Given the description of an element on the screen output the (x, y) to click on. 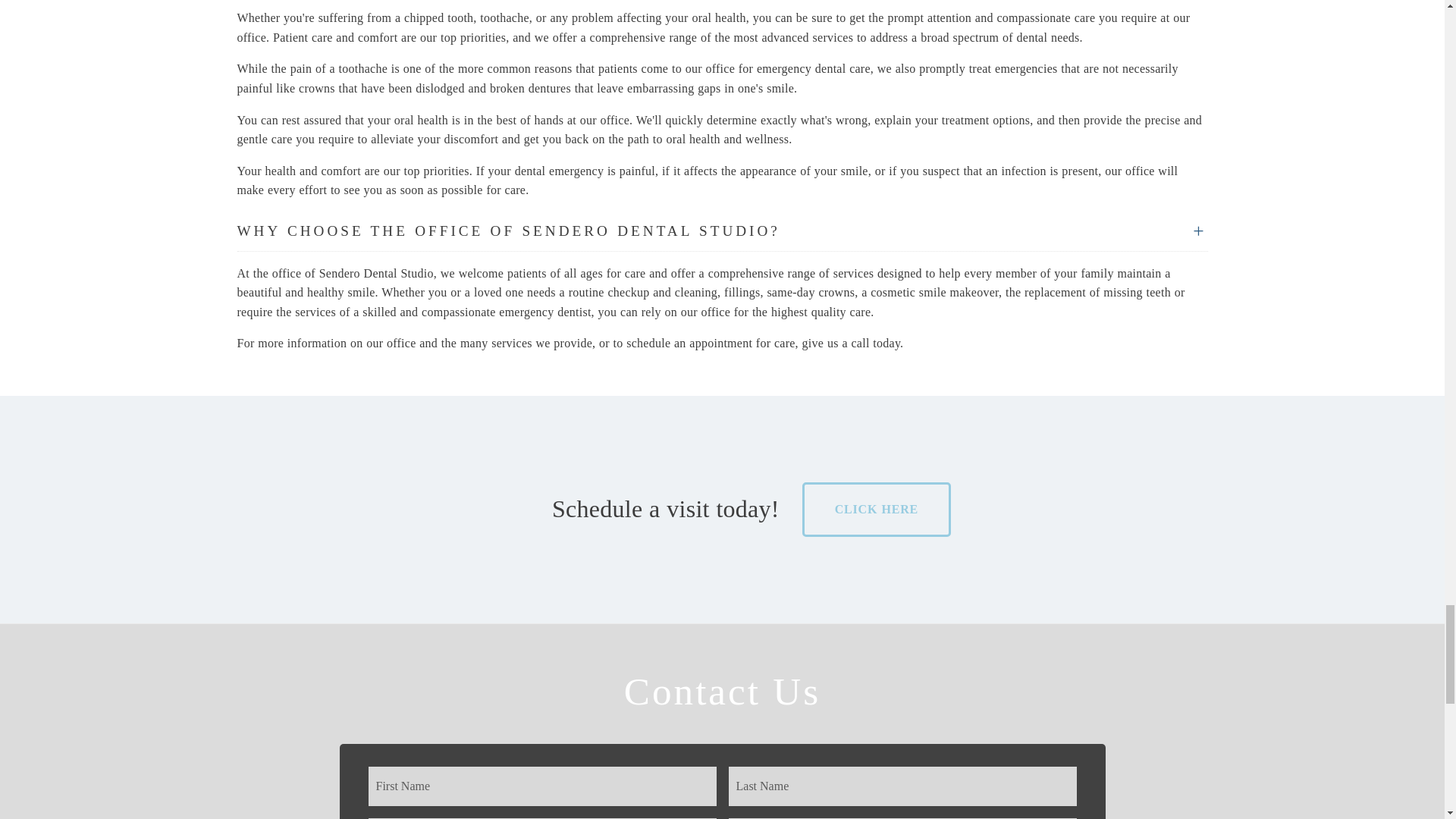
CLICK HERE (876, 509)
